Given the description of an element on the screen output the (x, y) to click on. 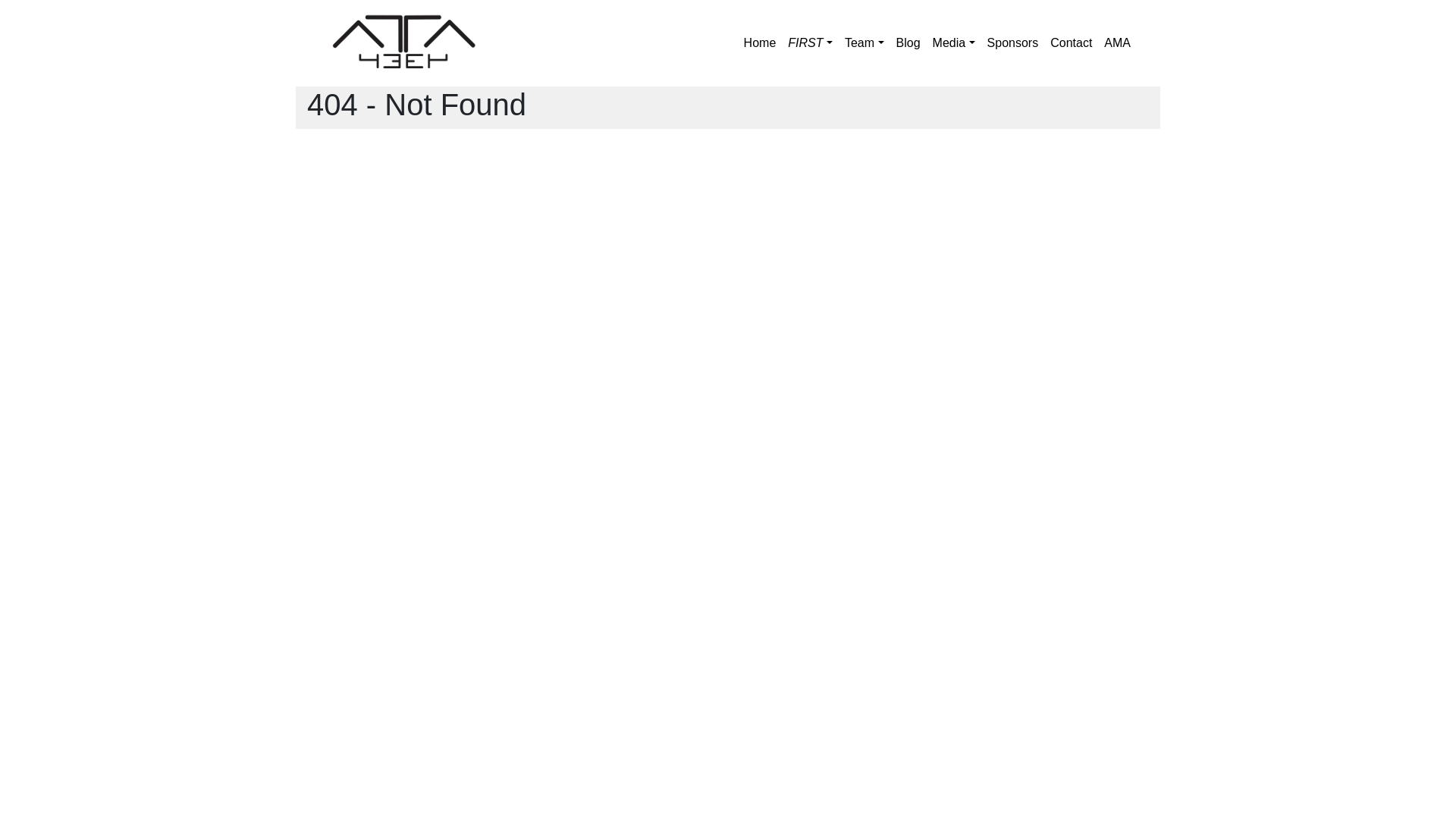
Sponsors Element type: text (1012, 43)
Blog Element type: text (908, 43)
FIRST Element type: text (809, 43)
Home Element type: text (759, 43)
Contact Element type: text (1071, 43)
Team Element type: text (864, 43)
Media Element type: text (953, 43)
AMA Element type: text (1117, 43)
